Given the description of an element on the screen output the (x, y) to click on. 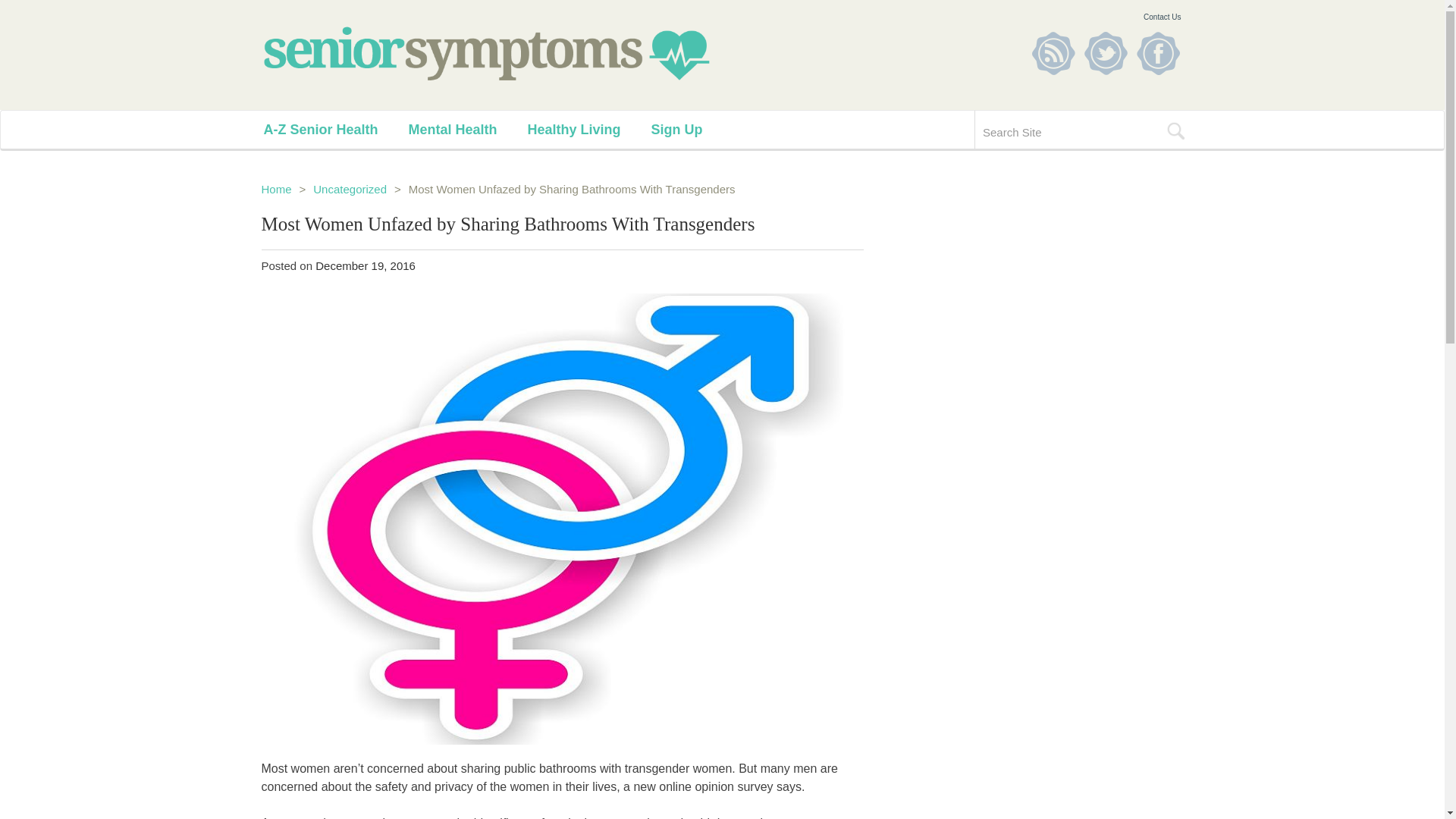
Home (275, 188)
Uncategorized (350, 188)
December 19, 2016 (364, 265)
Twitter (1106, 53)
Mental Health (468, 129)
A-Z Senior Health (336, 129)
RSS (1052, 53)
Contact Us (1161, 17)
Healthy Living (588, 129)
Sign Up (691, 129)
Facebook (1157, 53)
